Given the description of an element on the screen output the (x, y) to click on. 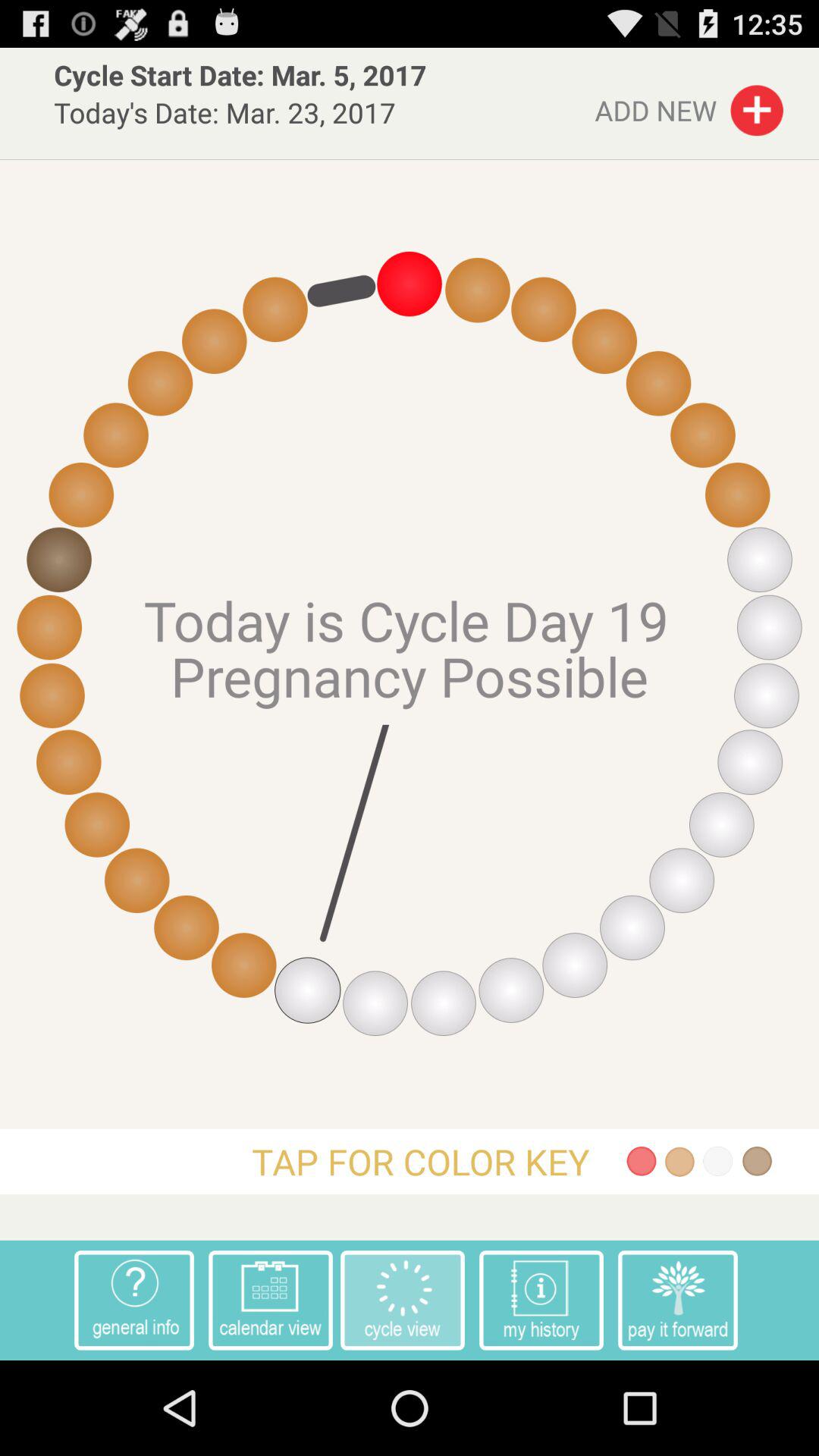
click icon to the left of the   app (133, 1300)
